Given the description of an element on the screen output the (x, y) to click on. 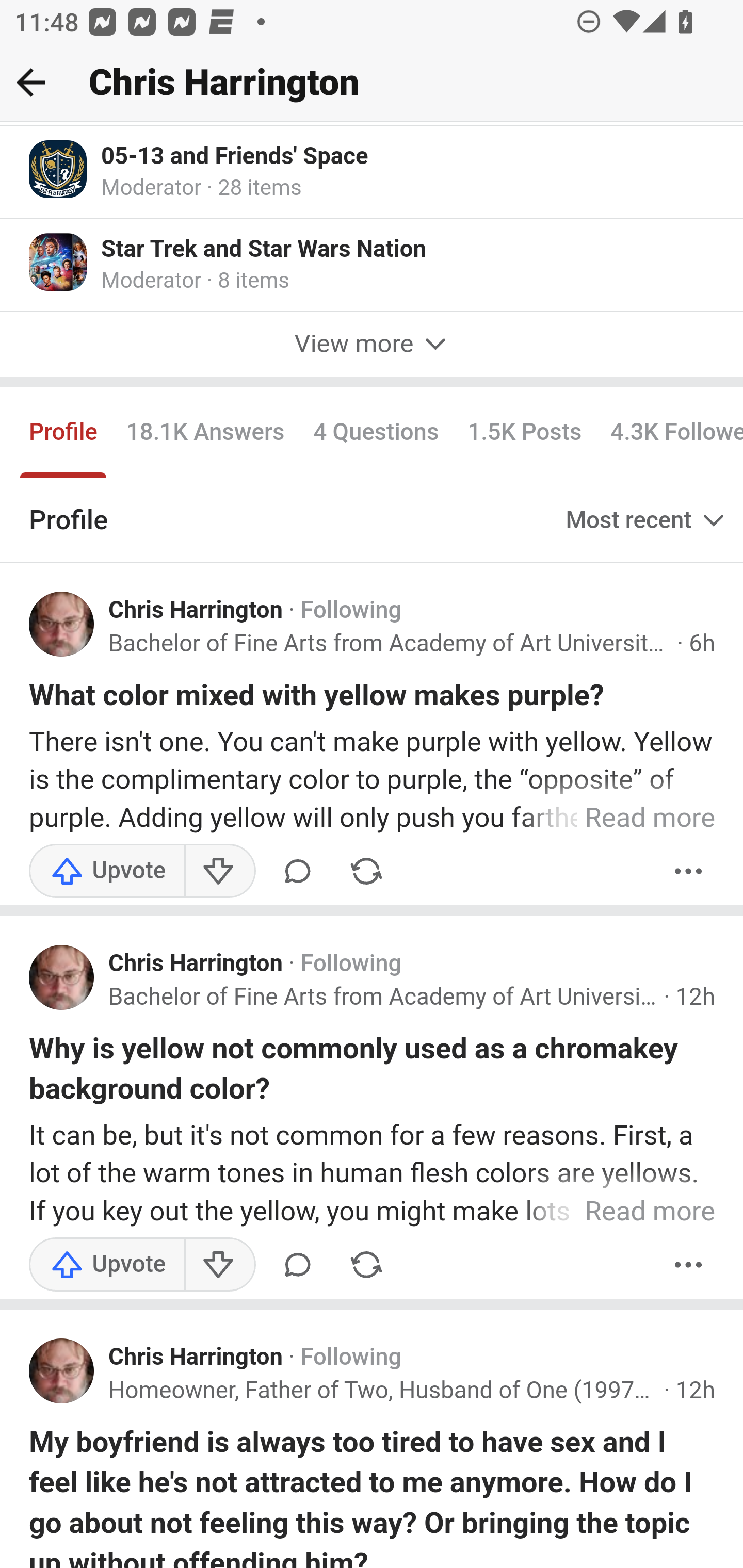
Back (30, 82)
Icon for 05-13 and Friends' Space (58, 169)
05-13 and Friends' Space (235, 157)
Icon for Star Trek and Star Wars Nation (58, 263)
Star Trek and Star Wars Nation (264, 250)
View more (371, 346)
Profile (63, 434)
18.1K Answers (204, 434)
4 Questions (375, 434)
1.5K Posts (524, 434)
4.3K Followers (669, 434)
Most recent (647, 520)
Profile photo for Chris Harrington (61, 626)
Chris Harrington (195, 611)
Following (350, 611)
Upvote (106, 872)
Downvote (219, 872)
Comment (297, 872)
Share (366, 872)
More (688, 872)
Profile photo for Chris Harrington (61, 978)
Chris Harrington (195, 965)
Following (350, 965)
Upvote (106, 1266)
Downvote (219, 1266)
Comment (297, 1266)
Share (366, 1266)
More (688, 1266)
Profile photo for Chris Harrington (61, 1372)
Chris Harrington (195, 1359)
Following (350, 1359)
